Given the description of an element on the screen output the (x, y) to click on. 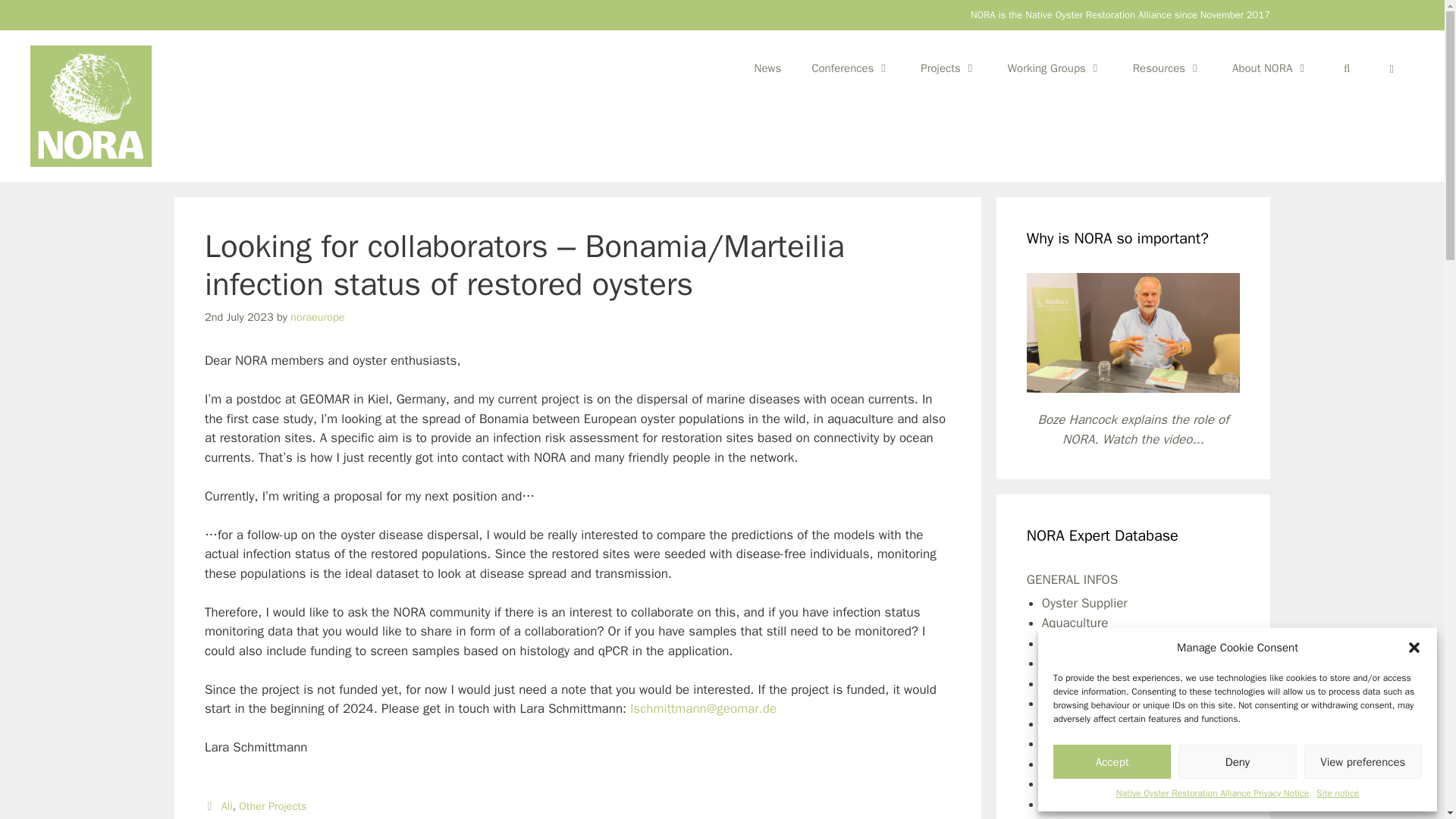
Conferences (850, 67)
View preferences (1363, 761)
Accept (1111, 761)
Deny (1236, 761)
Projects (948, 67)
Site notice (1337, 793)
View all posts by noraeurope (316, 315)
Native Oyster Restoration Alliance Privacy Notice (1212, 793)
News (767, 67)
